Given the description of an element on the screen output the (x, y) to click on. 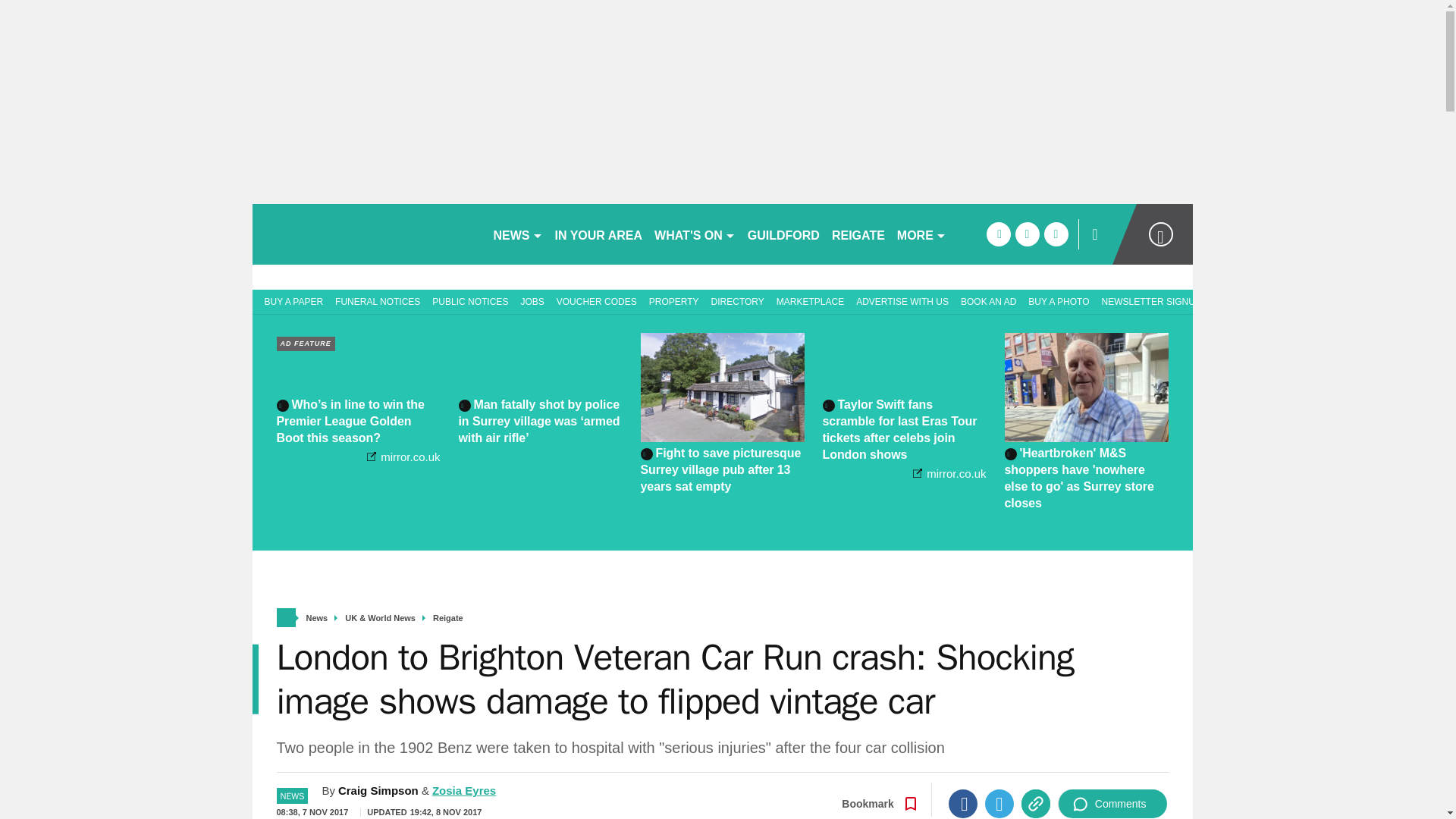
WHAT'S ON (694, 233)
JOBS (531, 300)
instagram (1055, 233)
getsurrey (365, 233)
REIGATE (858, 233)
NEWS (517, 233)
VOUCHER CODES (596, 300)
IN YOUR AREA (598, 233)
Twitter (999, 803)
Facebook (962, 803)
